Given the description of an element on the screen output the (x, y) to click on. 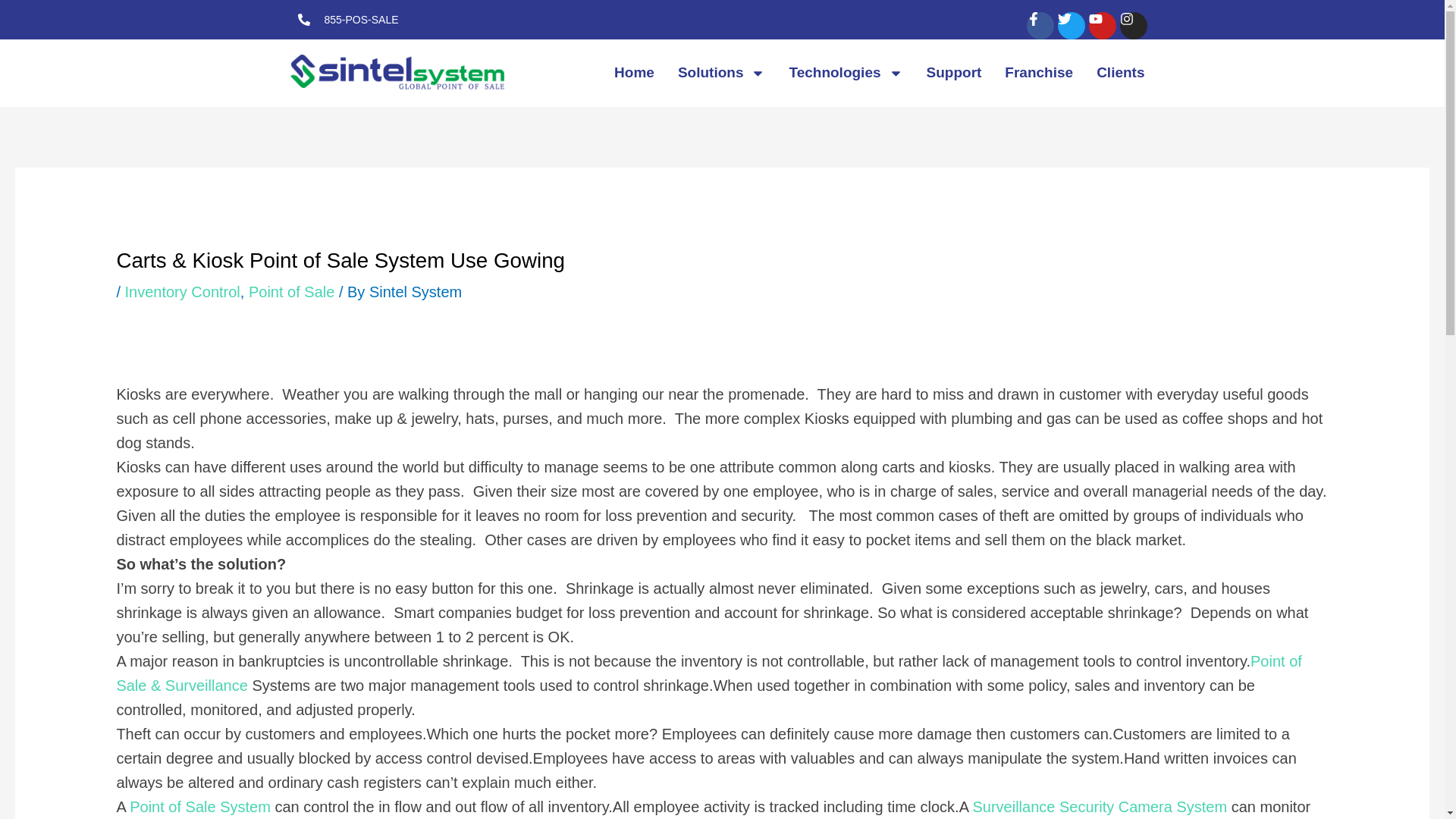
Sintel Systems (708, 672)
Instagram (1133, 25)
Opens a widget where you can chat to one of our agents (1340, 732)
Support (954, 72)
855-POS-SALE (347, 19)
Youtube (1102, 25)
Clients (1120, 72)
Technologies (845, 72)
View all posts by Sintel System (415, 291)
Solutions (722, 72)
Facebook-f (1040, 25)
Twitter (1070, 25)
Franchise (1038, 72)
